Given the description of an element on the screen output the (x, y) to click on. 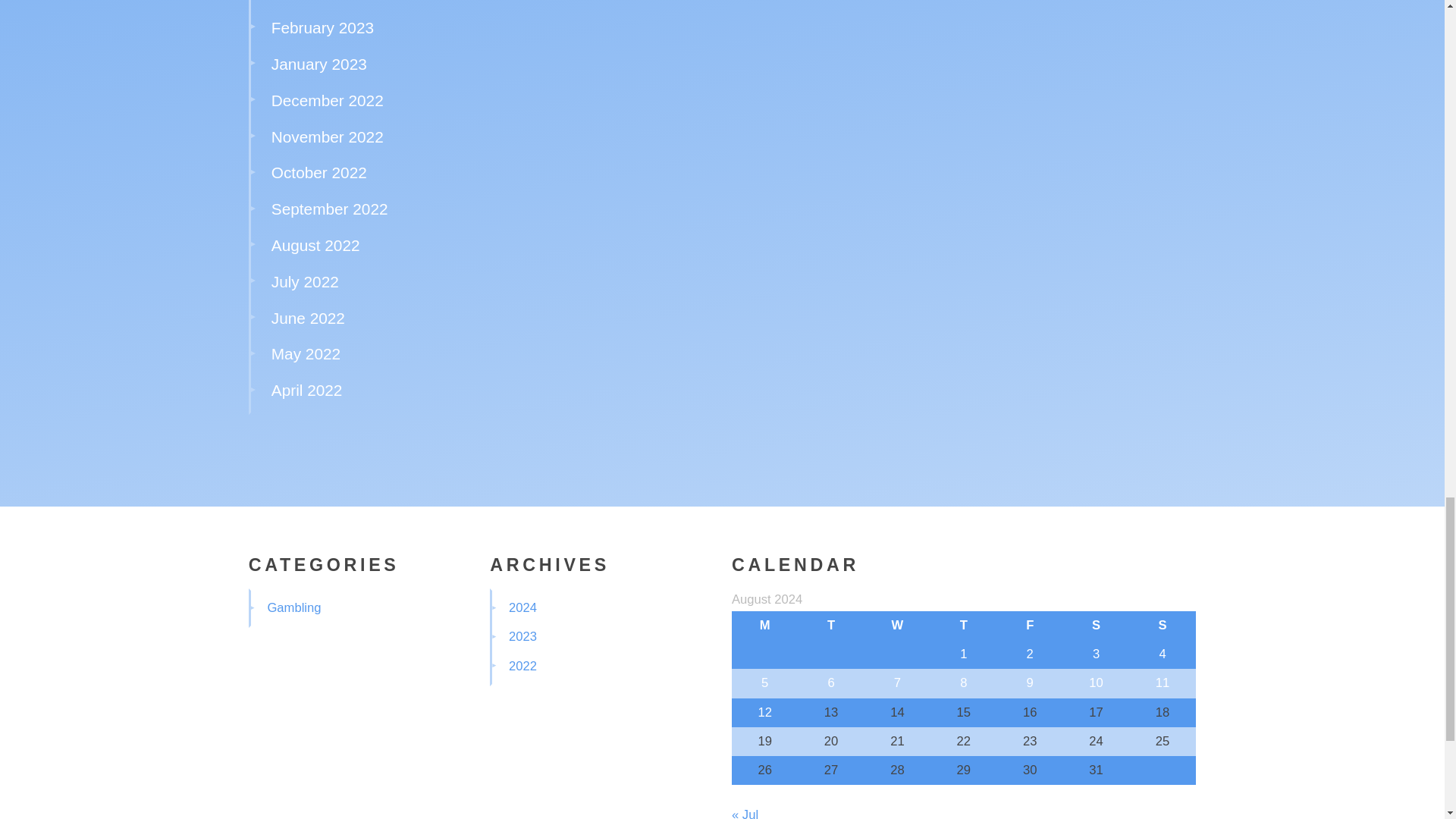
May 2022 (305, 353)
September 2022 (329, 208)
Friday (1029, 624)
Saturday (1095, 624)
Thursday (962, 624)
February 2023 (322, 27)
January 2023 (318, 63)
April 2022 (306, 389)
July 2022 (304, 281)
Tuesday (830, 624)
